Given the description of an element on the screen output the (x, y) to click on. 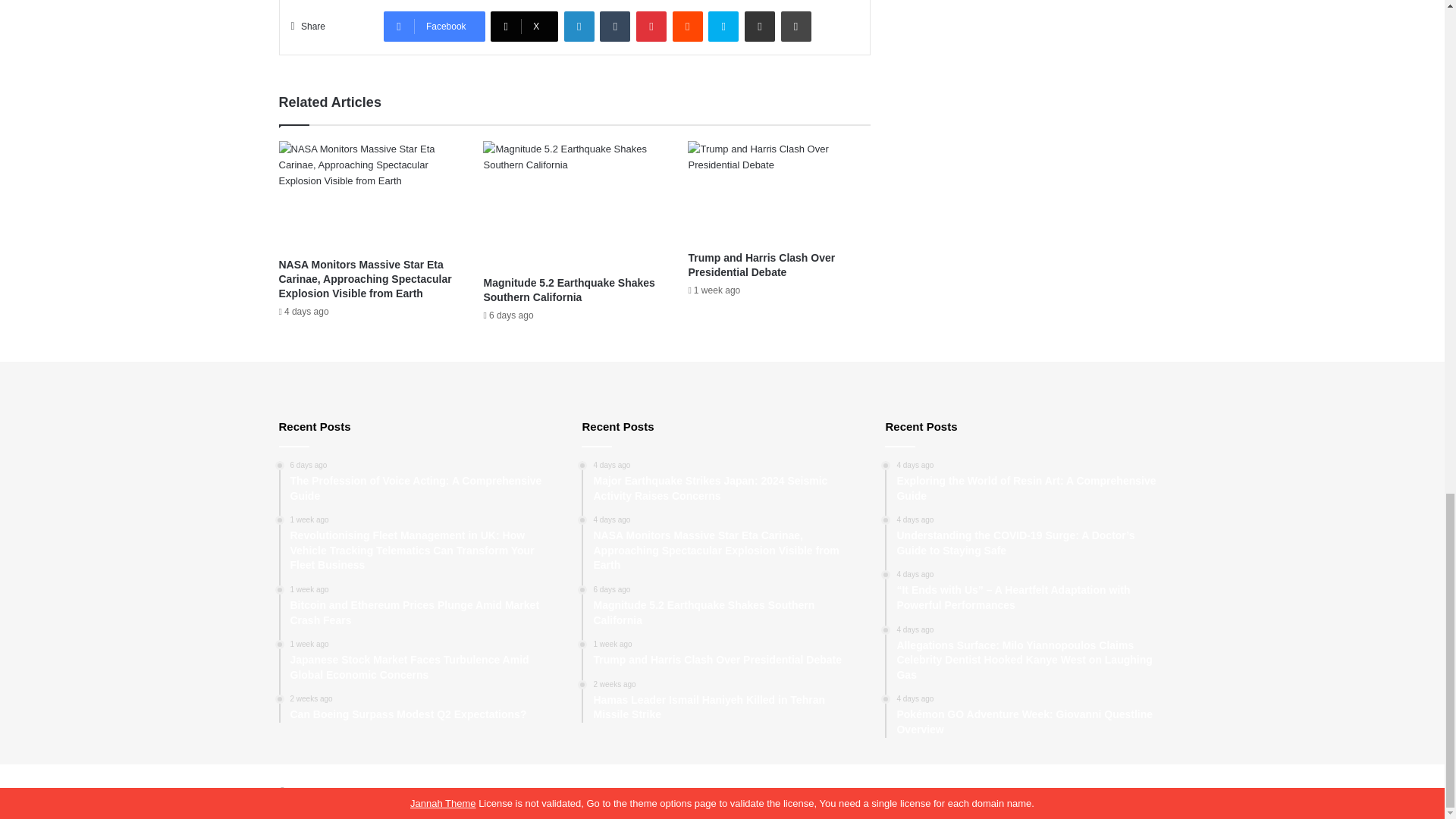
Skype (722, 26)
Skype (722, 26)
Pinterest (651, 26)
Facebook (434, 26)
Pinterest (651, 26)
Reddit (687, 26)
Tumblr (614, 26)
Print (795, 26)
LinkedIn (579, 26)
X (523, 26)
